Given the description of an element on the screen output the (x, y) to click on. 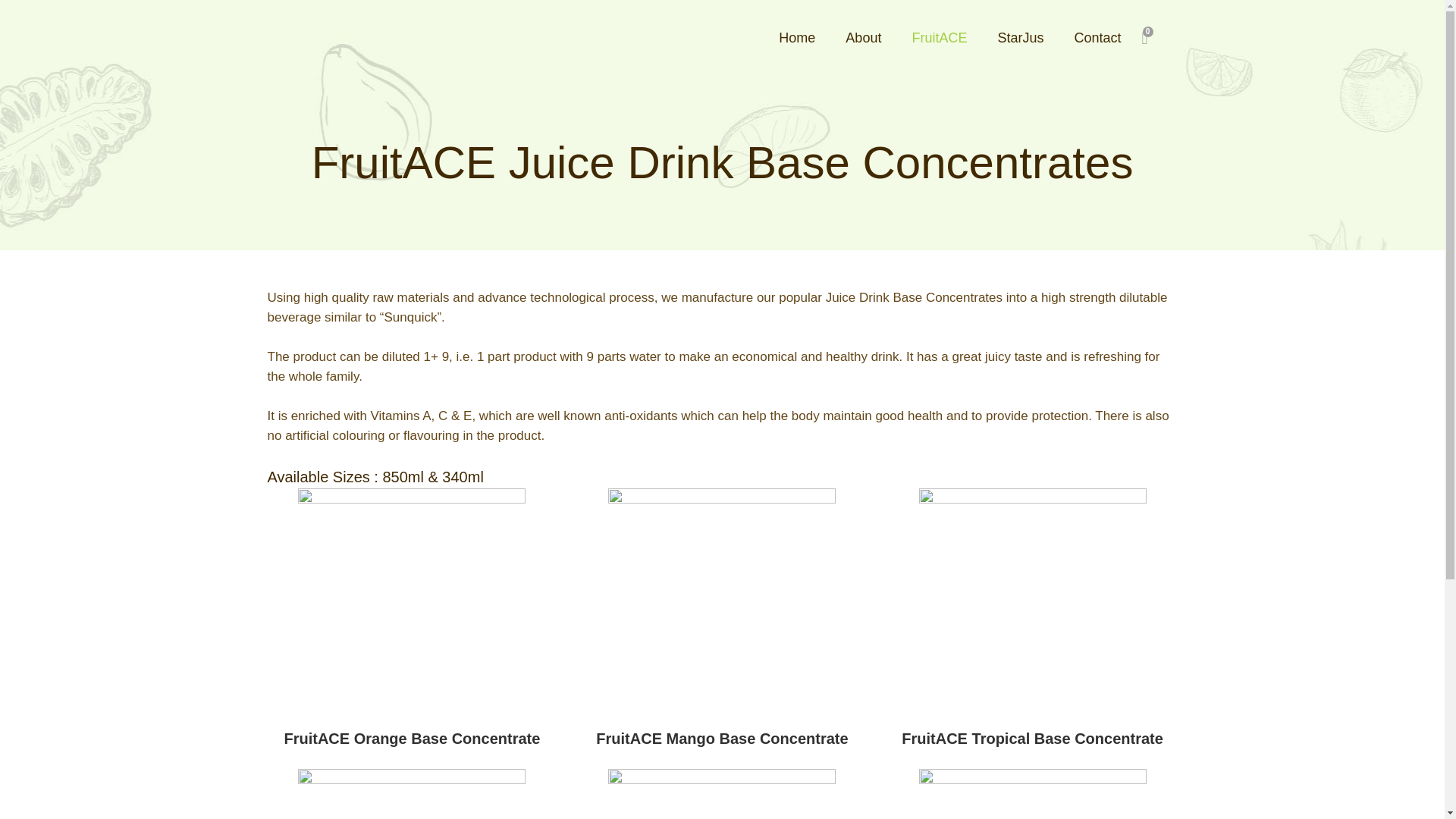
FruitACE (938, 38)
Contact (1096, 38)
StarJus (1019, 38)
FruitACE Mango Base Concentrate (722, 733)
FruitACE Tropical Base Concentrate (1032, 733)
FruitACE Orange Base Concentrate (411, 733)
